Given the description of an element on the screen output the (x, y) to click on. 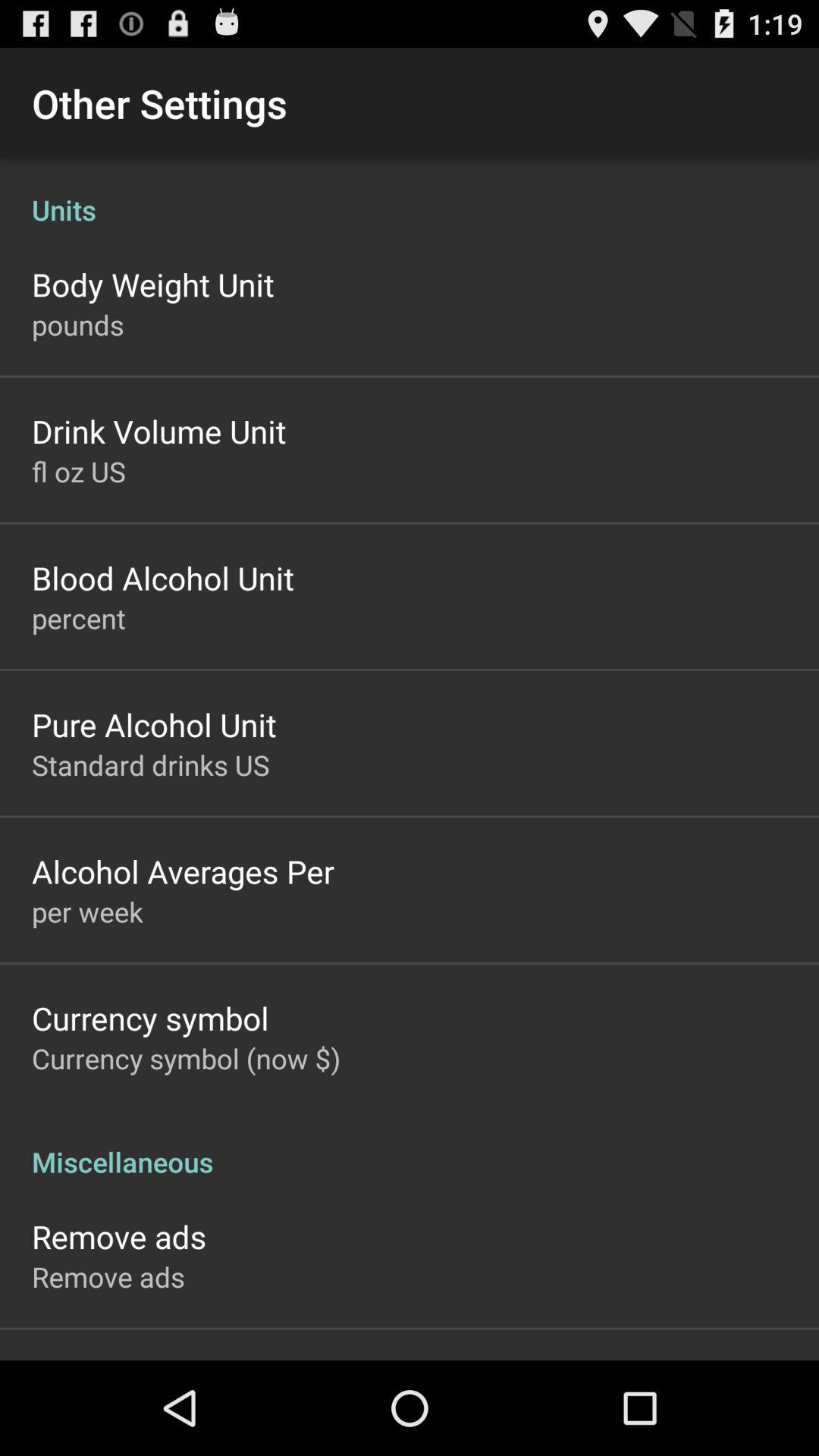
tap pounds (77, 324)
